Given the description of an element on the screen output the (x, y) to click on. 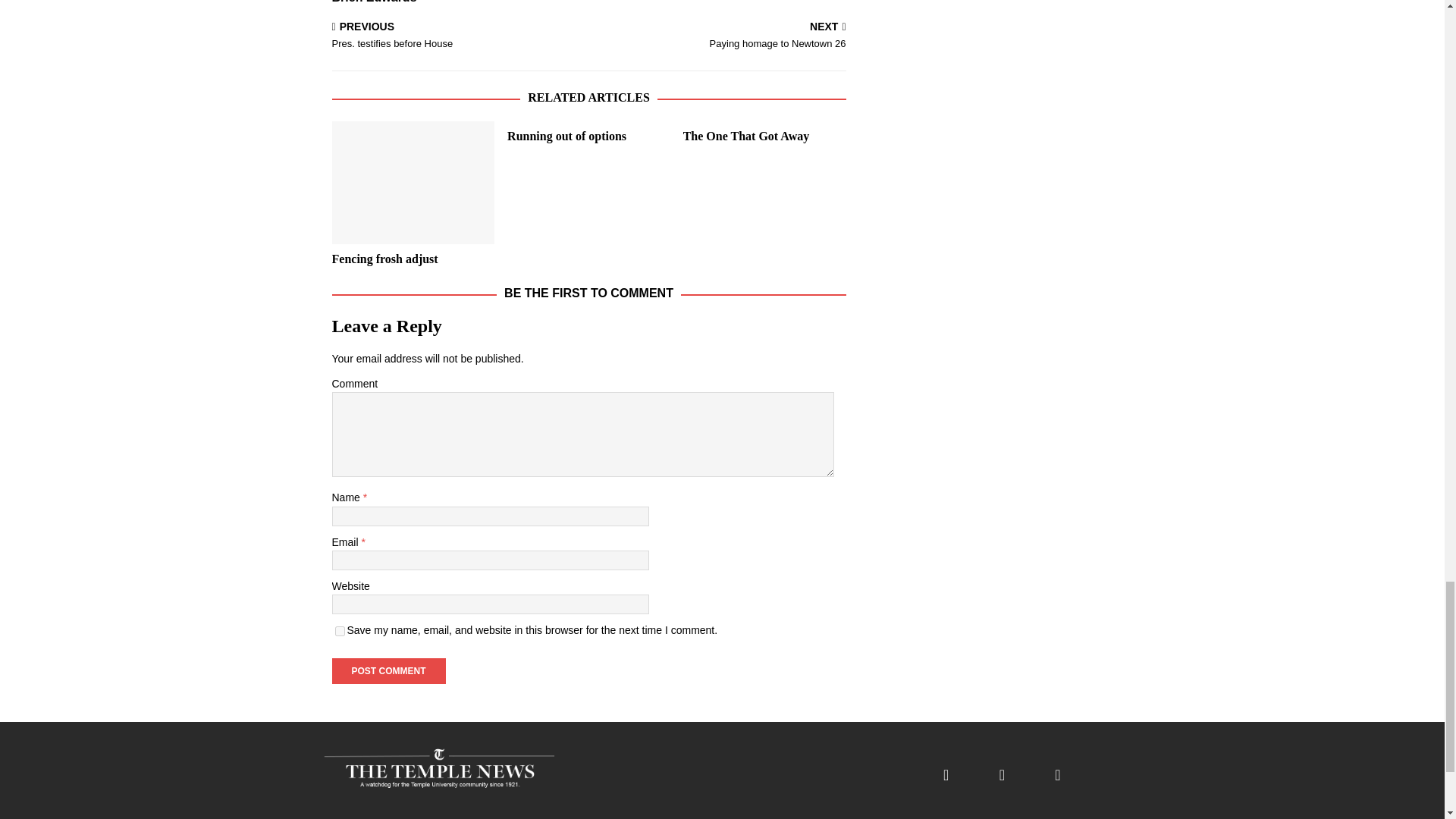
yes (339, 631)
Post Comment (388, 670)
